Given the description of an element on the screen output the (x, y) to click on. 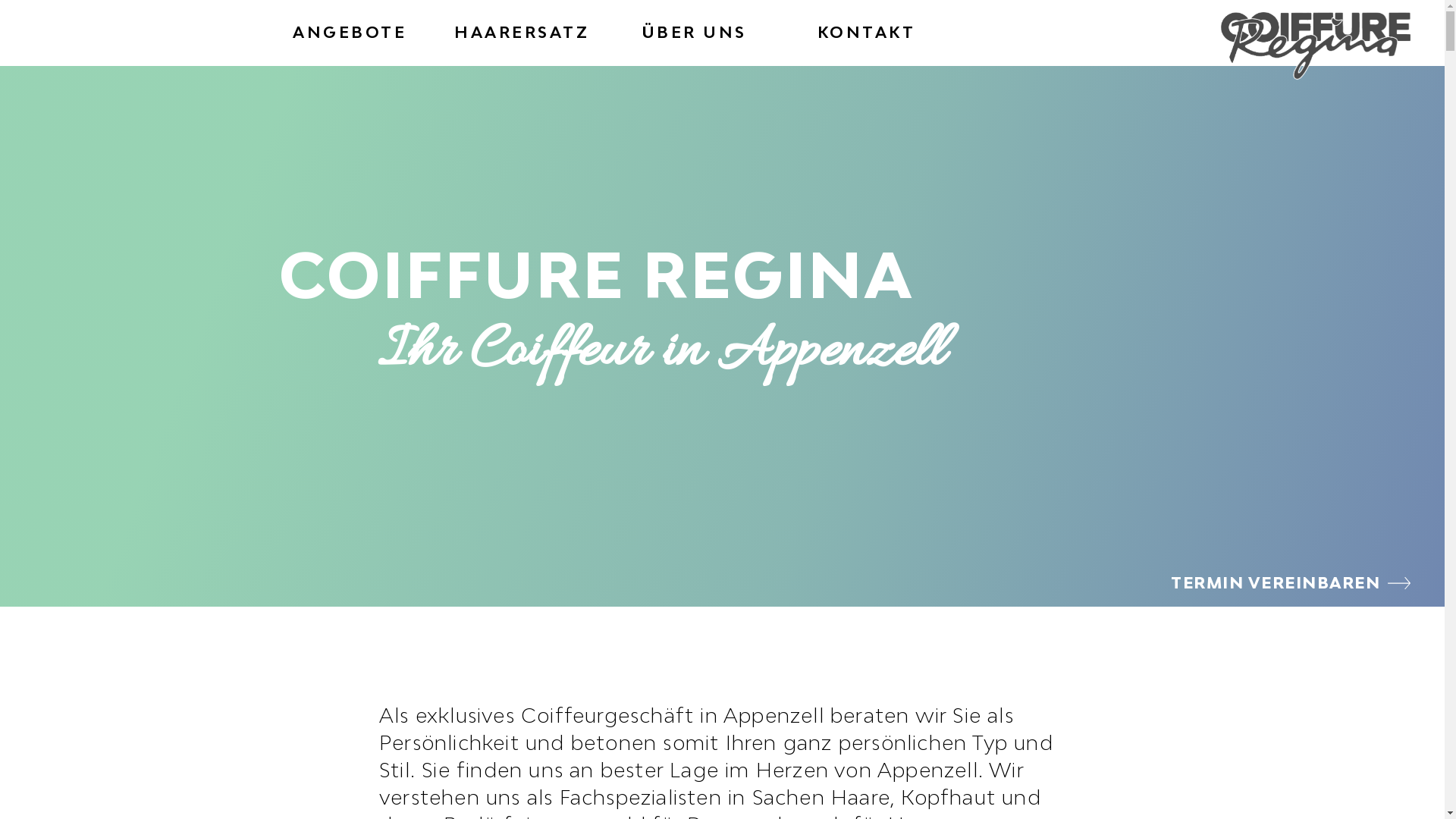
HAARERSATZ Element type: text (521, 31)
KONTAKT Element type: text (866, 31)
TERMIN VEREINBAREN Element type: text (1290, 582)
ANGEBOTE Element type: text (349, 31)
